Given the description of an element on the screen output the (x, y) to click on. 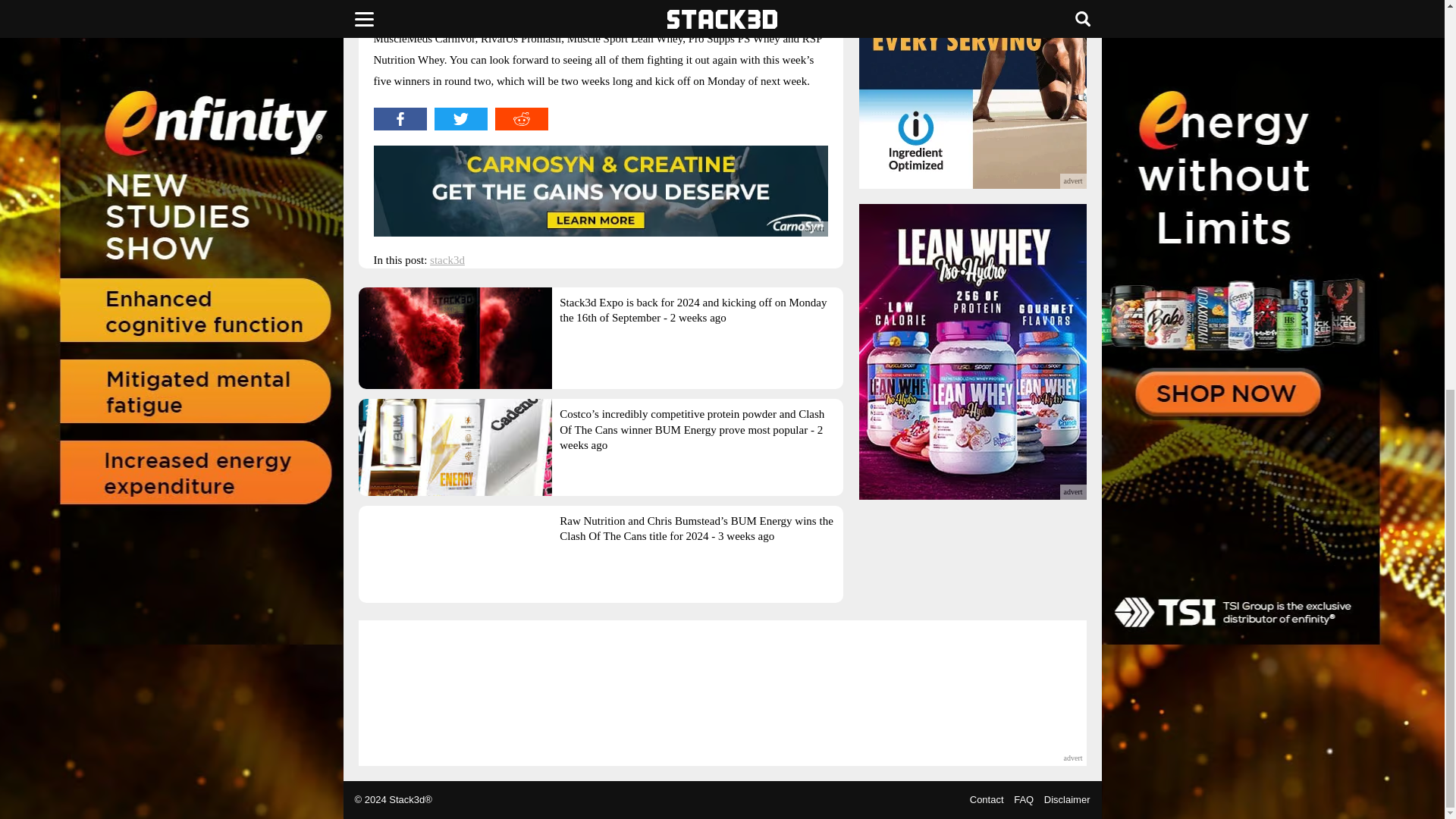
stack3d (446, 259)
